Given the description of an element on the screen output the (x, y) to click on. 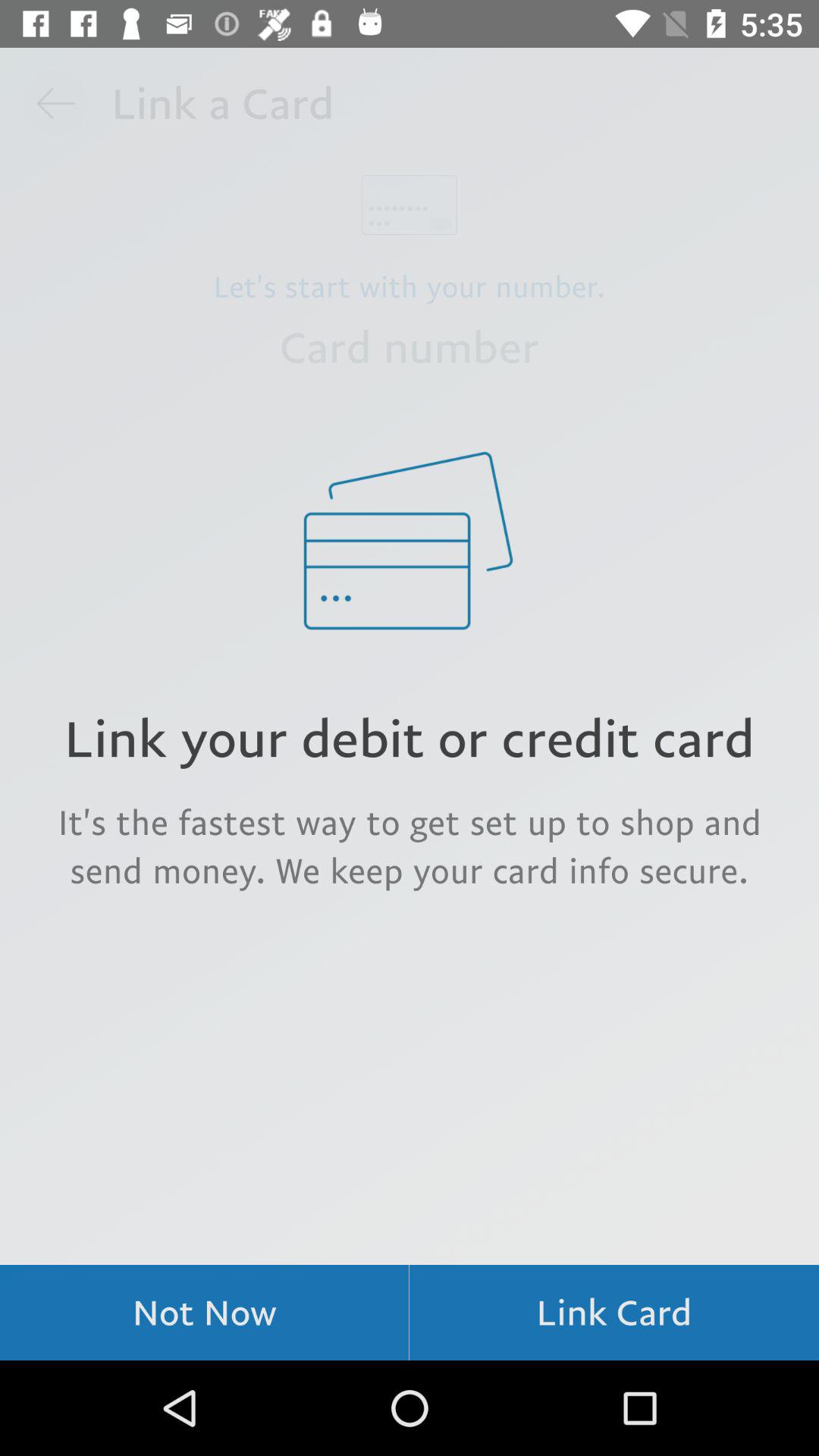
launch the it s the item (409, 845)
